Given the description of an element on the screen output the (x, y) to click on. 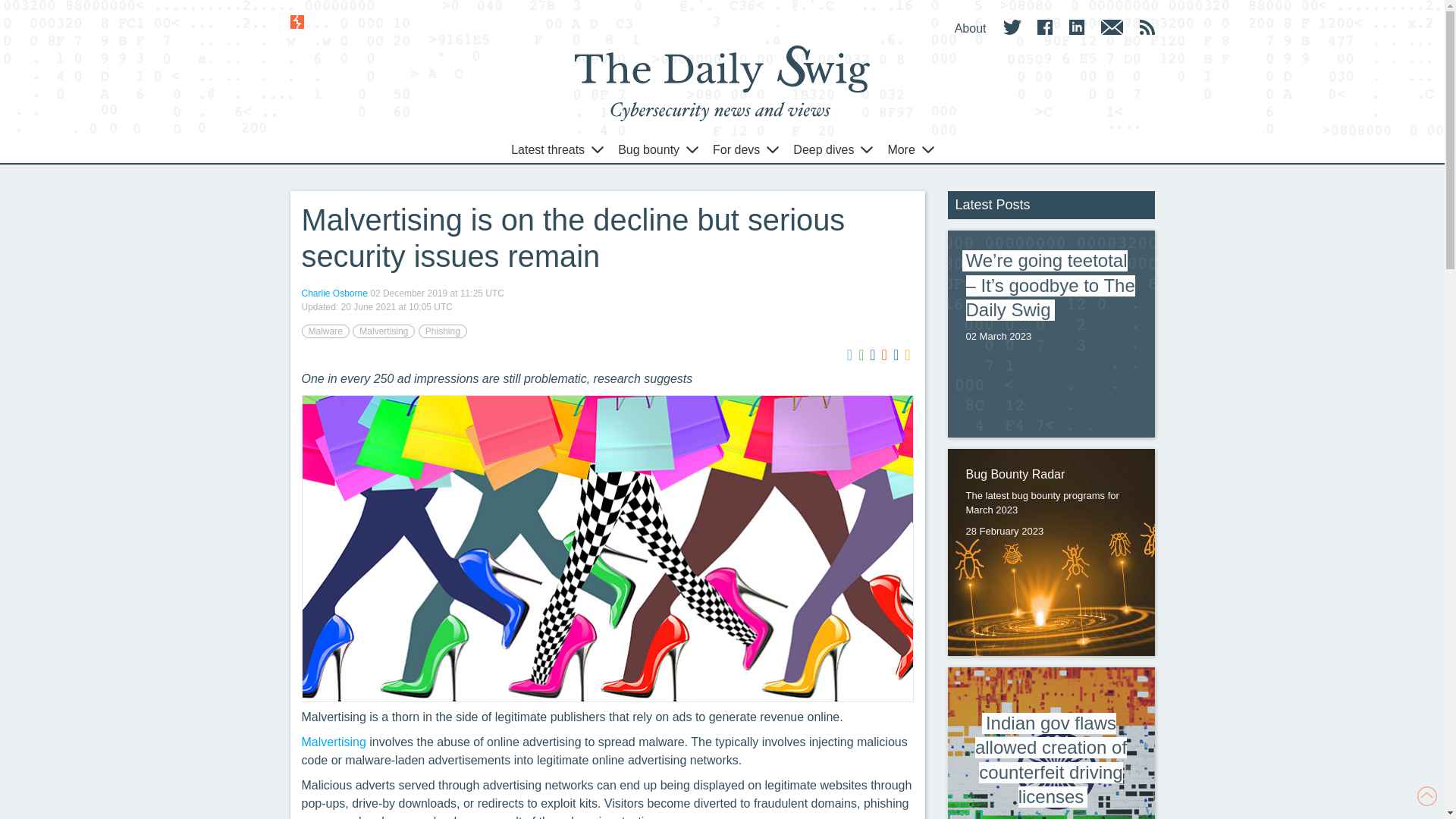
Charlie Osborne (334, 293)
Malvertising (383, 331)
Malware (325, 331)
Phishing (443, 331)
